Given the description of an element on the screen output the (x, y) to click on. 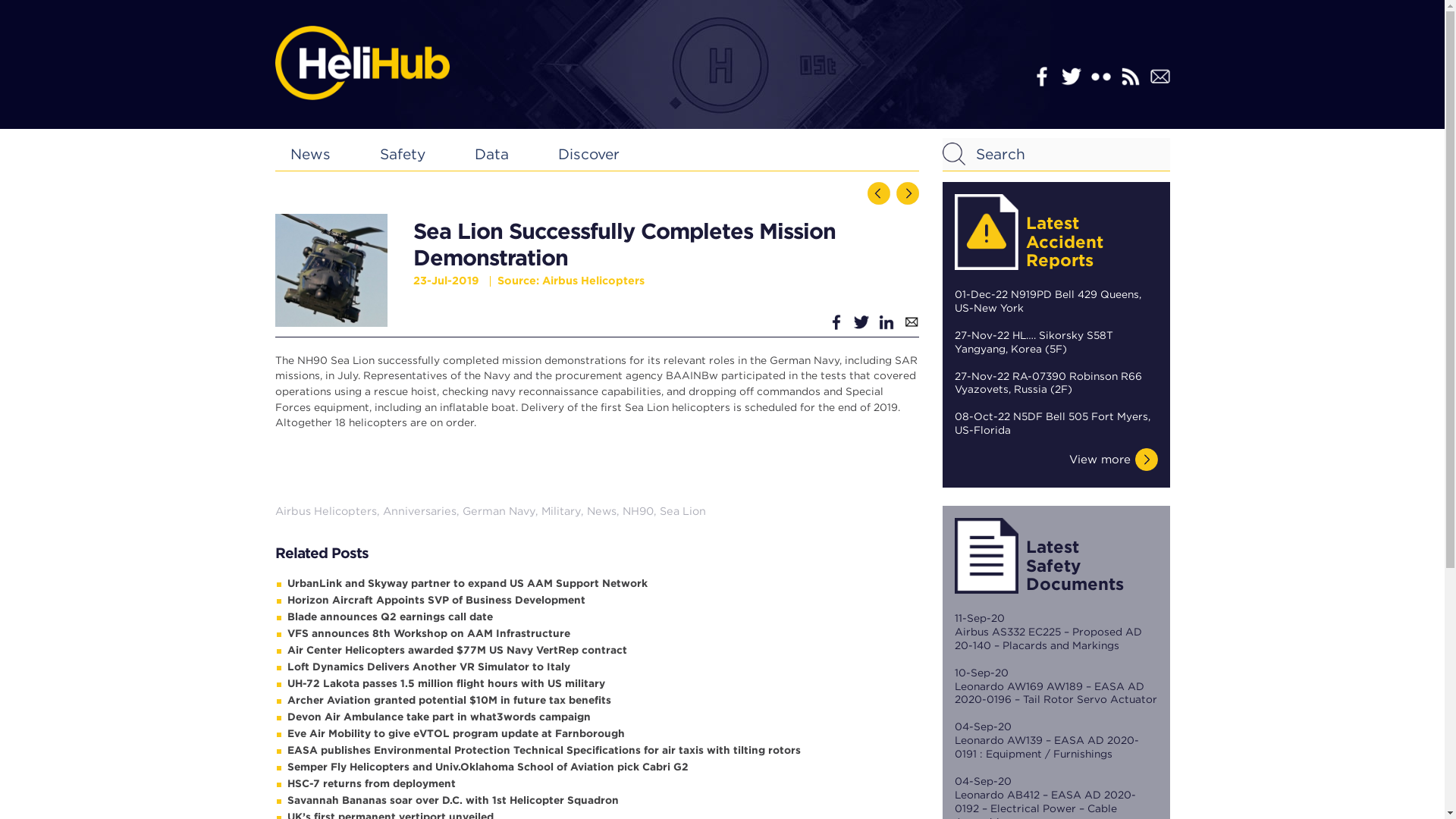
Safety (401, 154)
Subscribe (1159, 76)
RSS (1130, 76)
Flickr (1099, 76)
Sea Lion Successfully Completes Mission Demonstration (331, 269)
Facebook (1040, 76)
Discover (588, 154)
News (310, 154)
Data (492, 154)
HeliHub.com (361, 62)
Twitter (1071, 76)
